Given the description of an element on the screen output the (x, y) to click on. 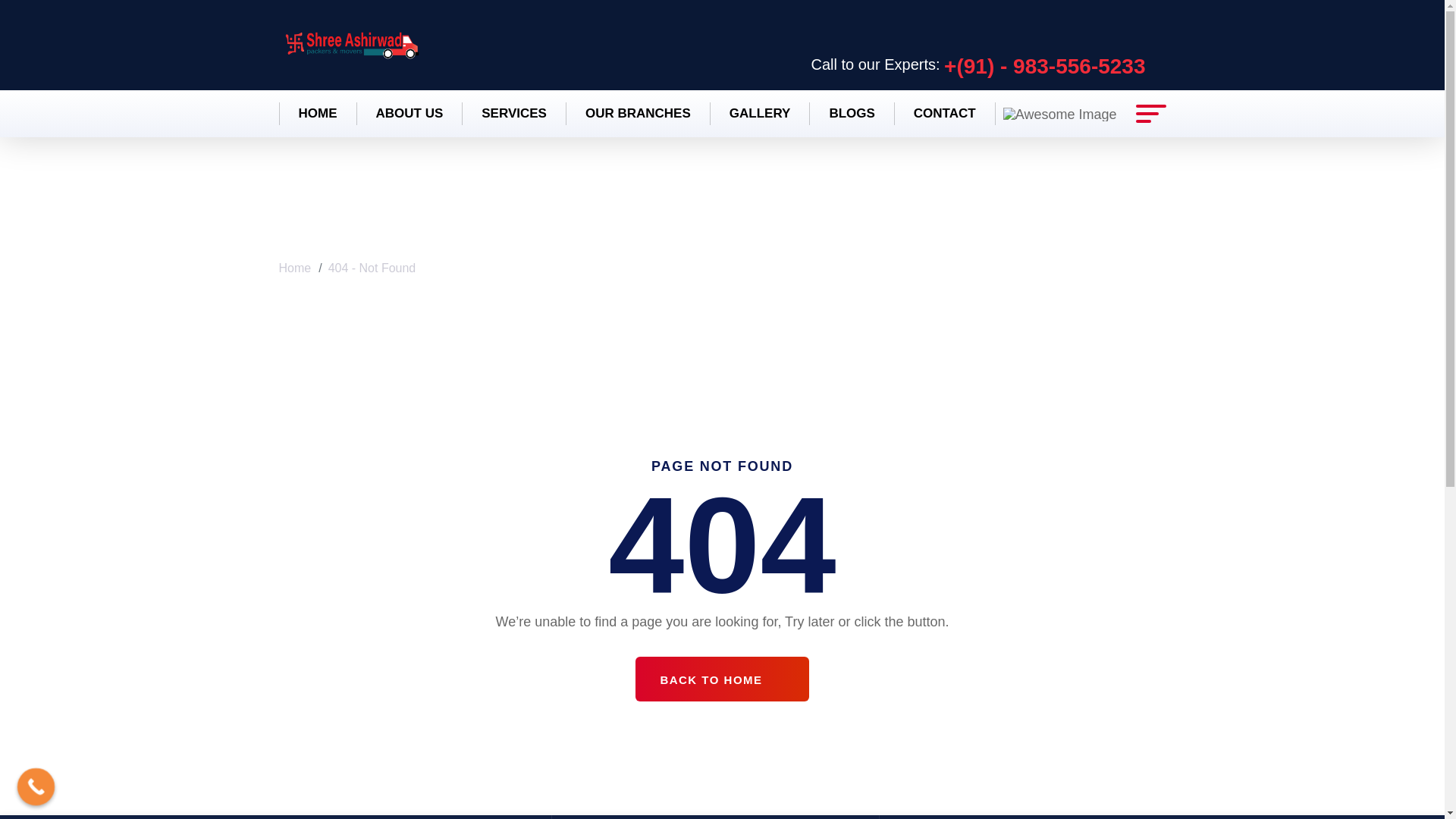
SERVICES (513, 113)
HOME (317, 113)
OUR BRANCHES (638, 113)
Shree Ashirwad Packers and Movers (352, 44)
ABOUT US (409, 113)
